Given the description of an element on the screen output the (x, y) to click on. 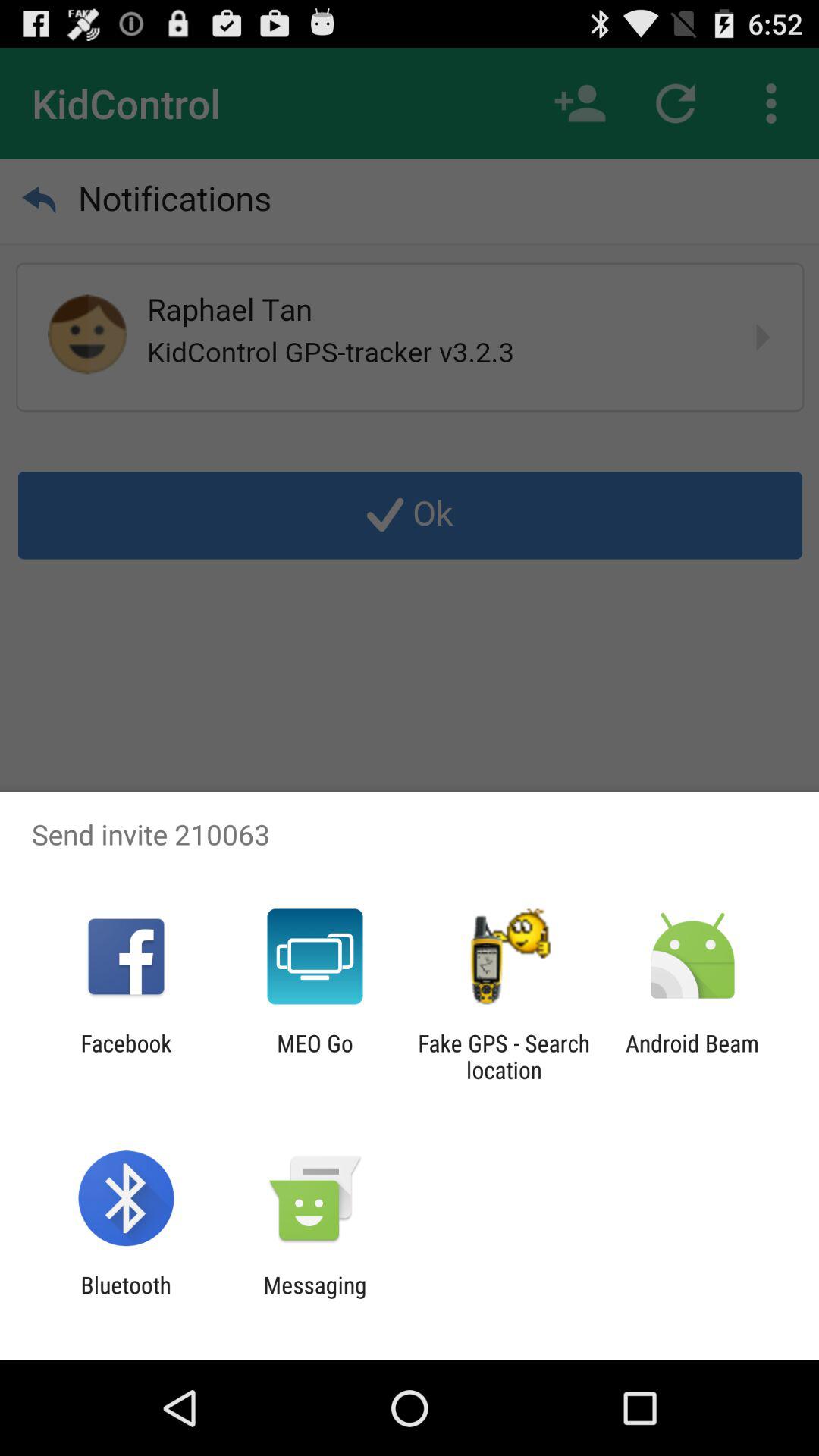
open app next to the meo go app (125, 1056)
